Given the description of an element on the screen output the (x, y) to click on. 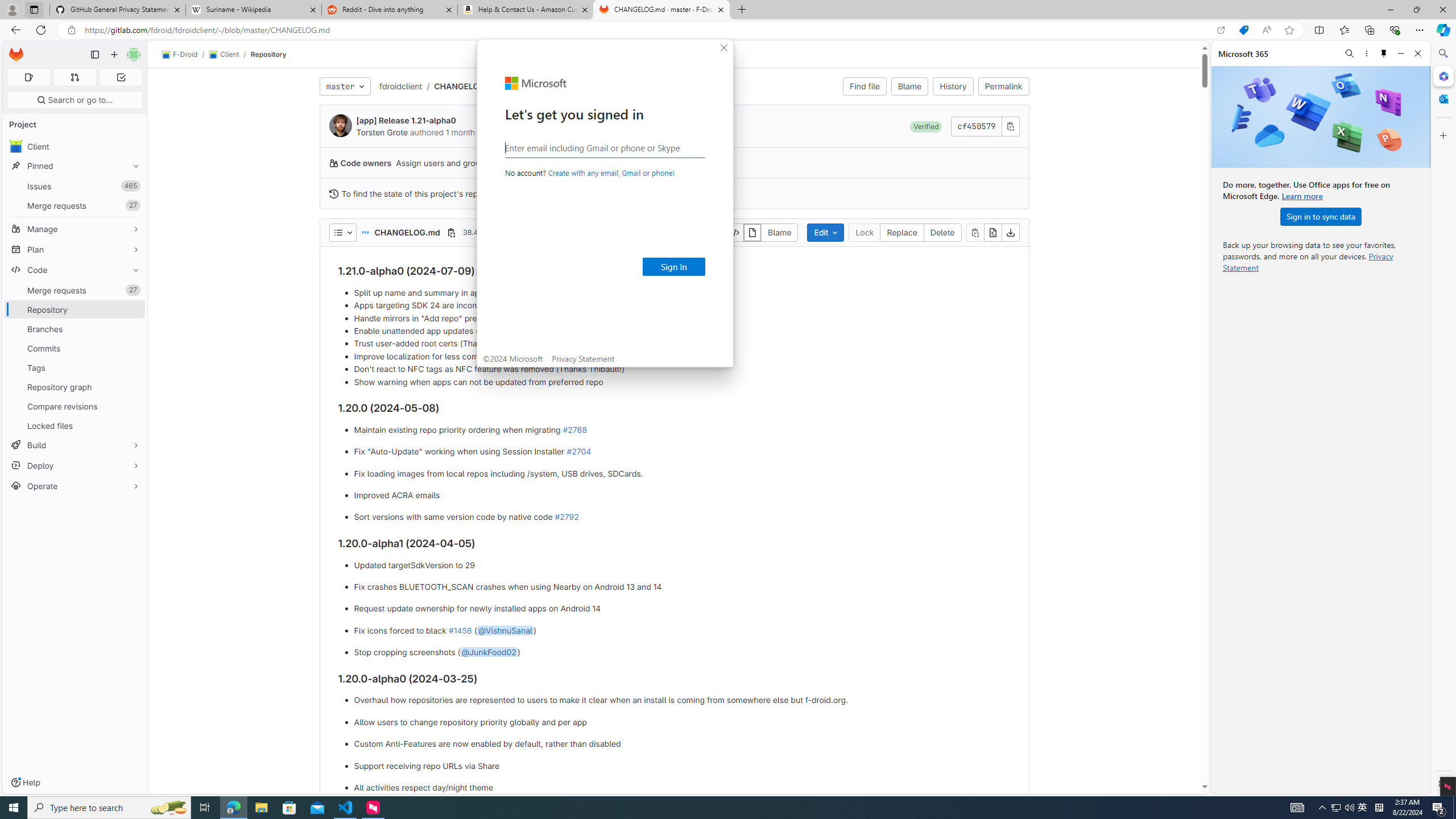
Merge requests 0 (74, 76)
Microsoft Icon (535, 83)
Build (74, 444)
Visual Studio Code - 1 running window (345, 807)
Torsten Grote's avatar (340, 125)
#2792 (566, 516)
